Given the description of an element on the screen output the (x, y) to click on. 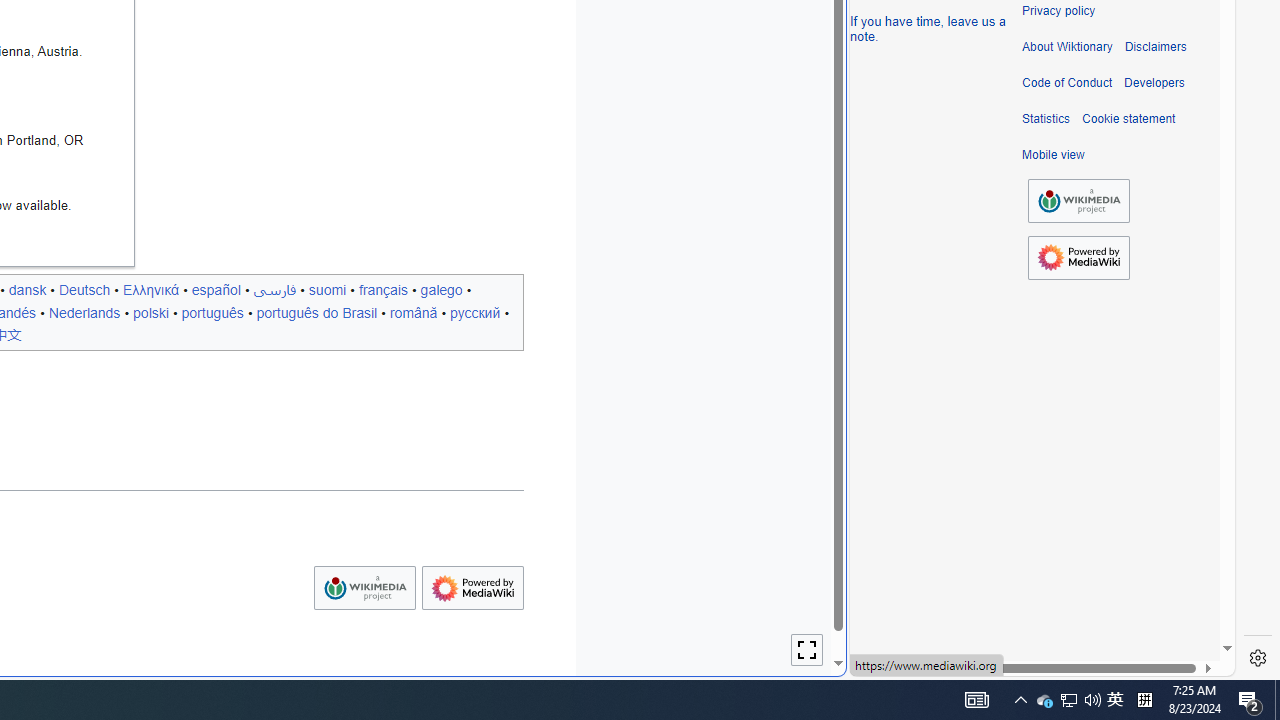
Privacy policy (1058, 11)
Disclaimers (1154, 47)
If you have time, leave us a note. (927, 27)
Mobile view (1053, 155)
Toggle limited content width (807, 650)
dansk (27, 289)
AutomationID: footer-poweredbyico (1078, 257)
